Given the description of an element on the screen output the (x, y) to click on. 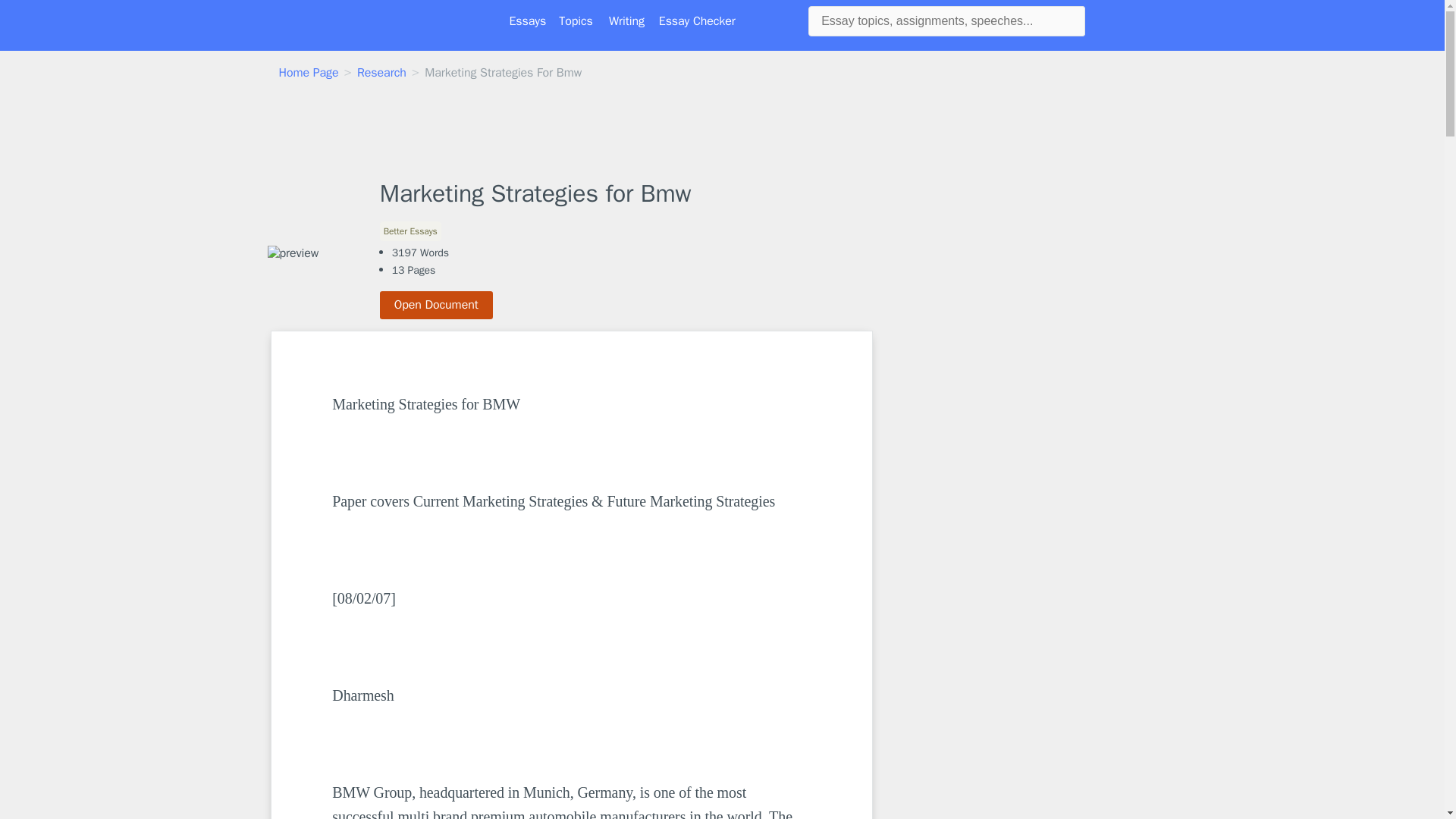
Topics (575, 20)
Essays (528, 20)
Home Page (309, 72)
Writing (626, 20)
Research (381, 72)
Open Document (436, 305)
Essay Checker (697, 20)
